Given the description of an element on the screen output the (x, y) to click on. 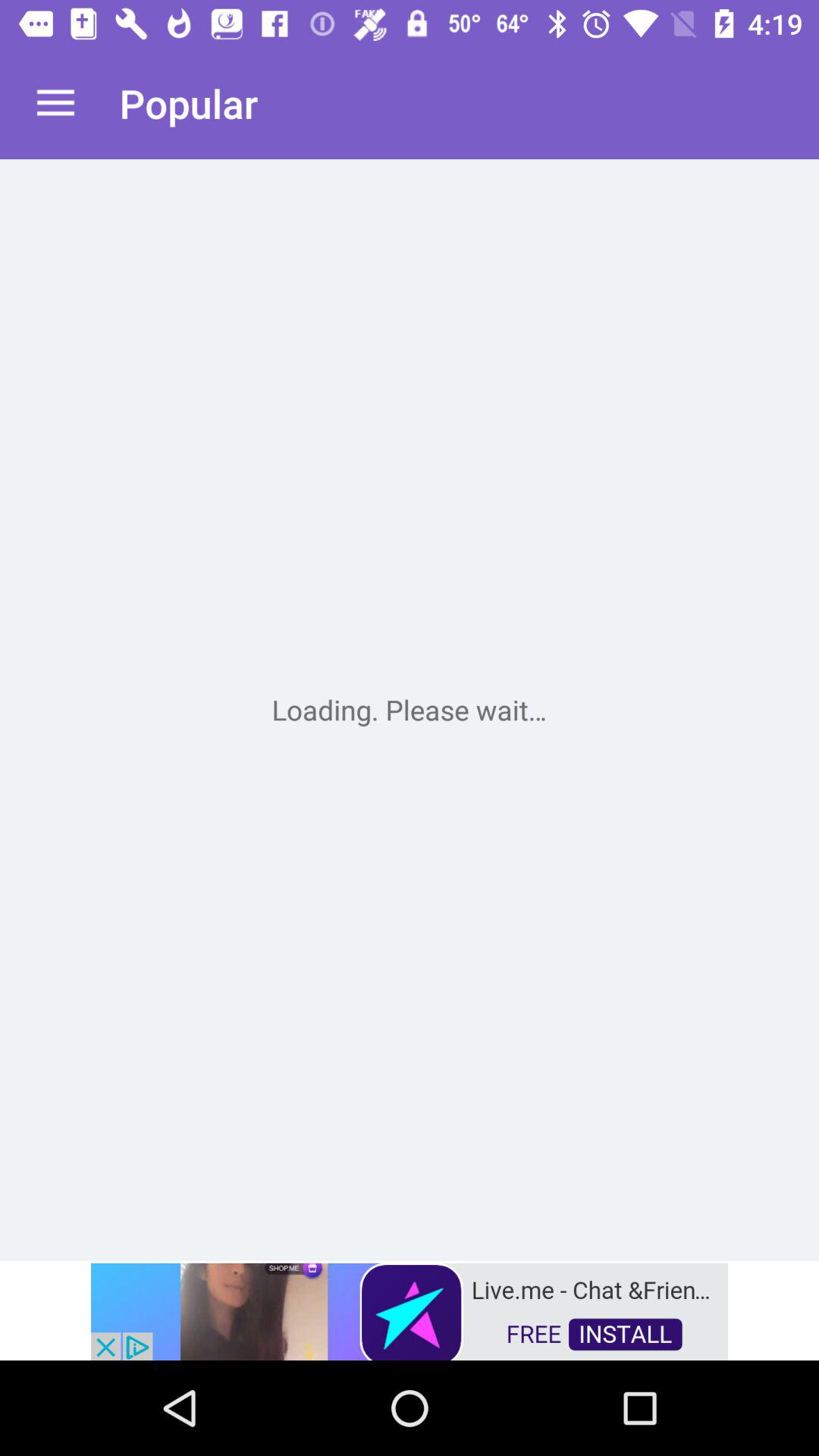
advertisement (409, 1310)
